Given the description of an element on the screen output the (x, y) to click on. 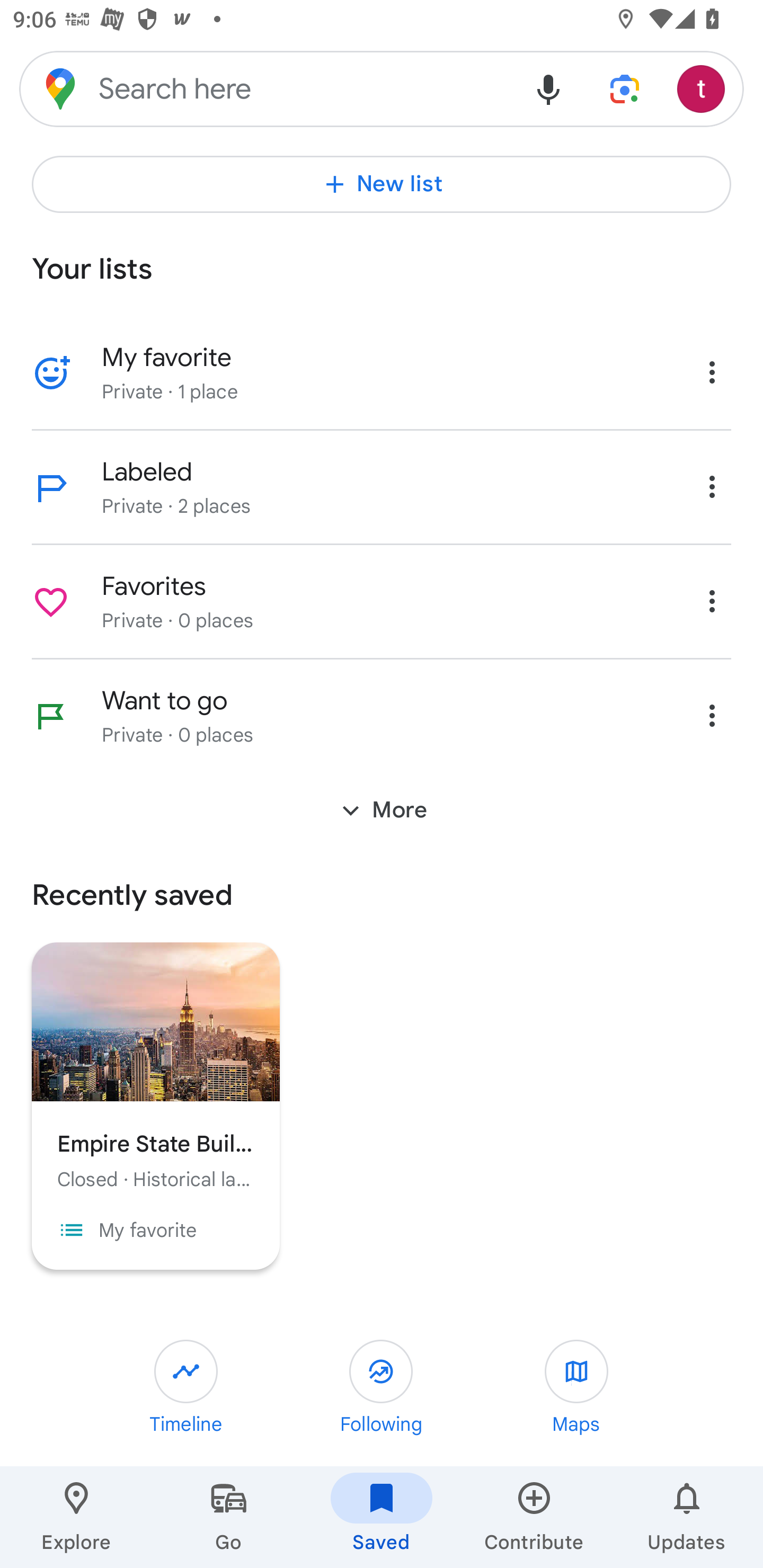
Search here (264, 88)
Voice search (548, 88)
Lens in Maps (624, 88)
New list (381, 183)
Options for My favorite (711, 371)
Edit list (51, 373)
Settings for labeled places (711, 486)
Options for Favorites (711, 600)
Edit list (51, 601)
Options for Want to go (711, 715)
Edit list (51, 716)
See more for Your Lists More (381, 810)
Empire State Building Closed · Historical landmark (156, 1067)
See Timeline See Timeline Timeline (186, 1388)
See Maps See Maps Maps (576, 1388)
Explore (76, 1517)
Go (228, 1517)
Contribute (533, 1517)
Updates (686, 1517)
